Given the description of an element on the screen output the (x, y) to click on. 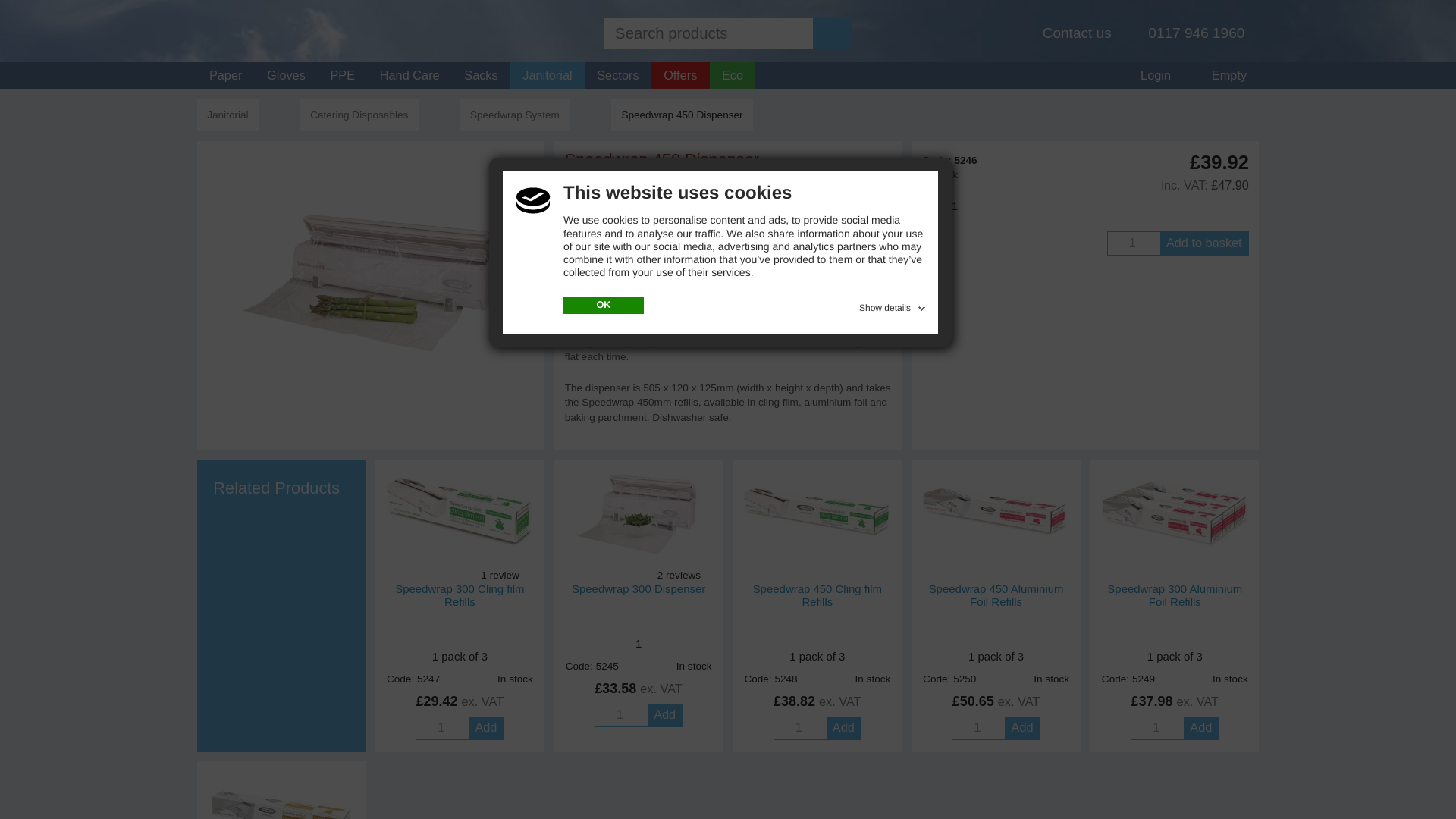
Show details (893, 305)
1 (976, 728)
1 (620, 715)
1 (799, 728)
OK (603, 305)
1 (1132, 242)
1 (1155, 728)
1 (440, 728)
